Given the description of an element on the screen output the (x, y) to click on. 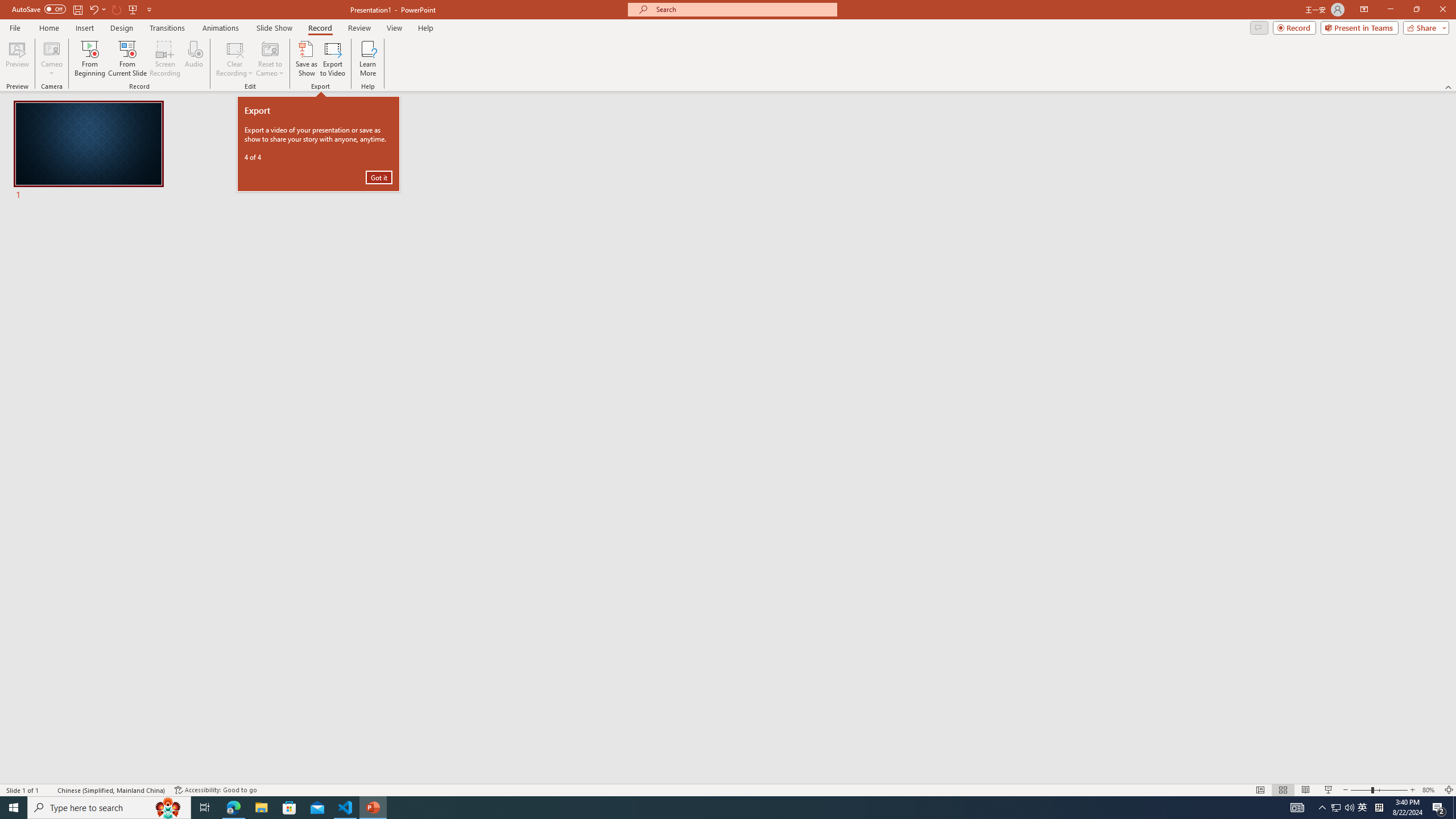
AutoSave (38, 9)
Quick Access Toolbar (82, 9)
Restore Down (1416, 9)
Visual Studio Code - 1 running window (345, 807)
Audio (193, 58)
Slide (88, 151)
View (395, 28)
Review (359, 28)
Reset to Cameo (269, 58)
Redo (117, 9)
Undo (96, 9)
Share (1423, 27)
Action Center, 2 new notifications (1439, 807)
Type here to search (108, 807)
